Given the description of an element on the screen output the (x, y) to click on. 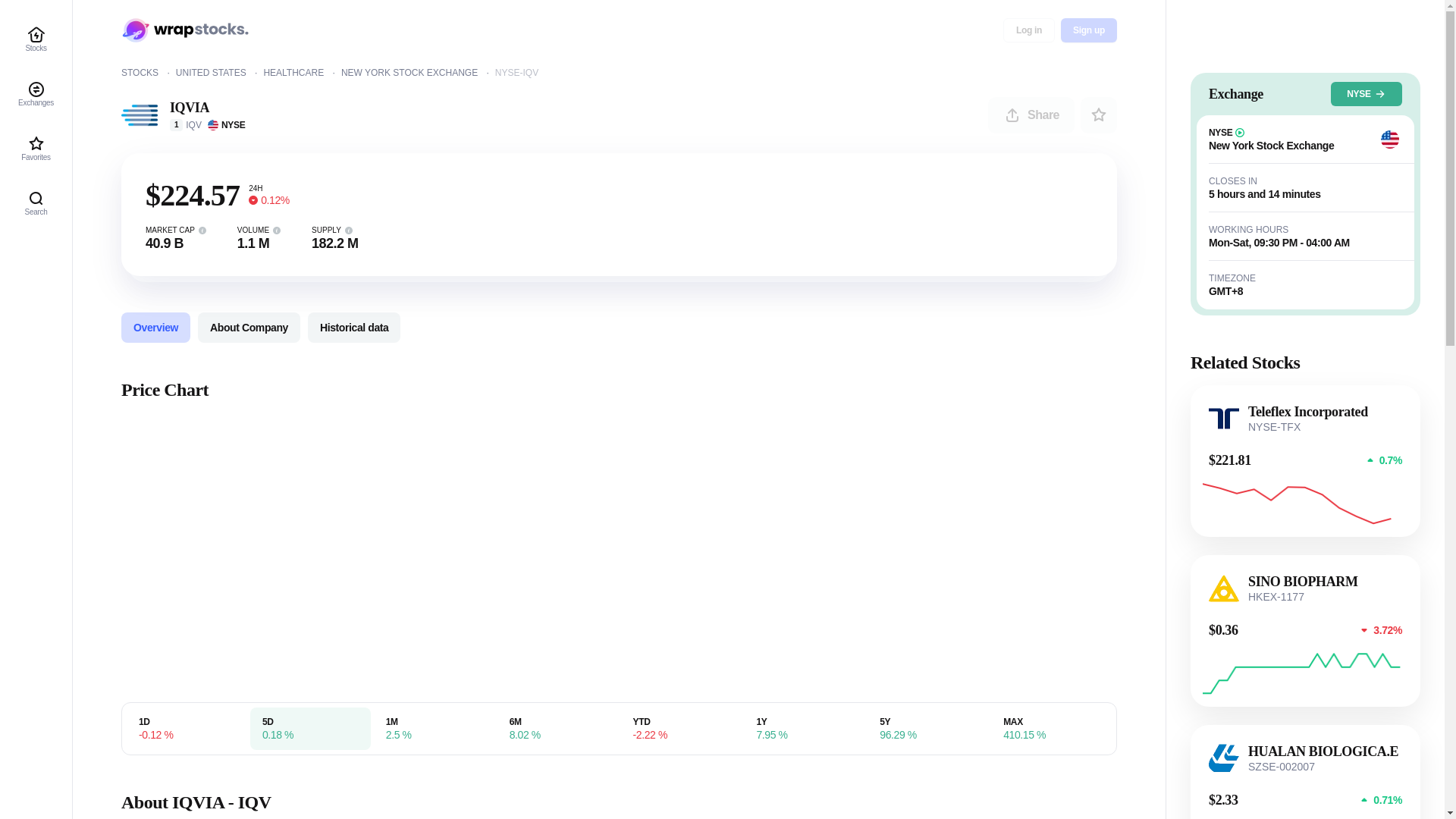
Share (1031, 115)
STOCKS (148, 72)
Exchanges (36, 93)
Sign up (1088, 30)
UNITED STATES (219, 72)
NYSE-IQV (516, 72)
Stocks (36, 39)
NEW YORK STOCK EXCHANGE (417, 72)
NYSE-IQV (516, 72)
Healthcare (301, 72)
NYSE (1366, 93)
Favorites (36, 148)
Log in (1028, 30)
United States (219, 72)
Stocks (148, 72)
